Given the description of an element on the screen output the (x, y) to click on. 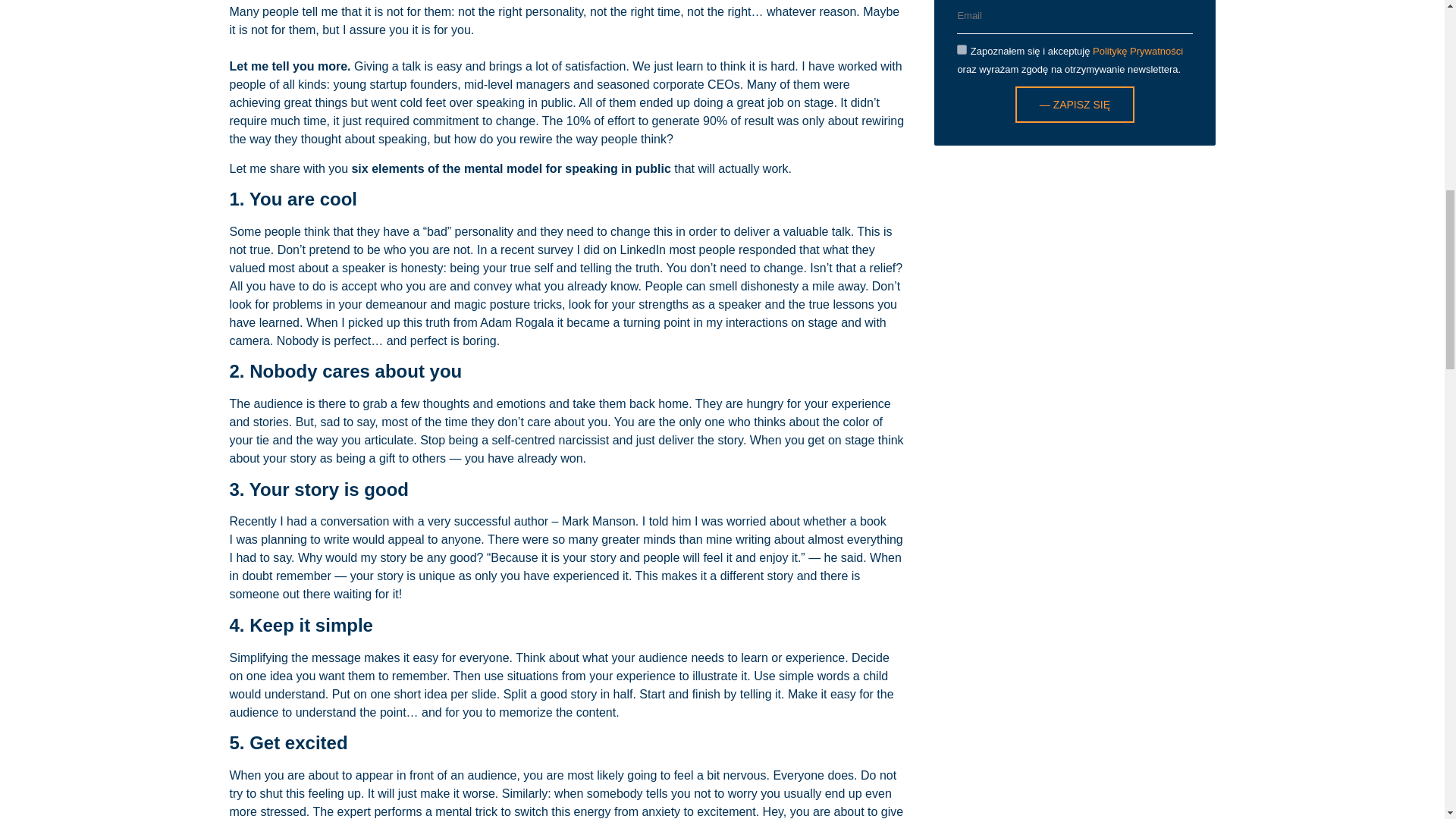
on (961, 49)
